Given the description of an element on the screen output the (x, y) to click on. 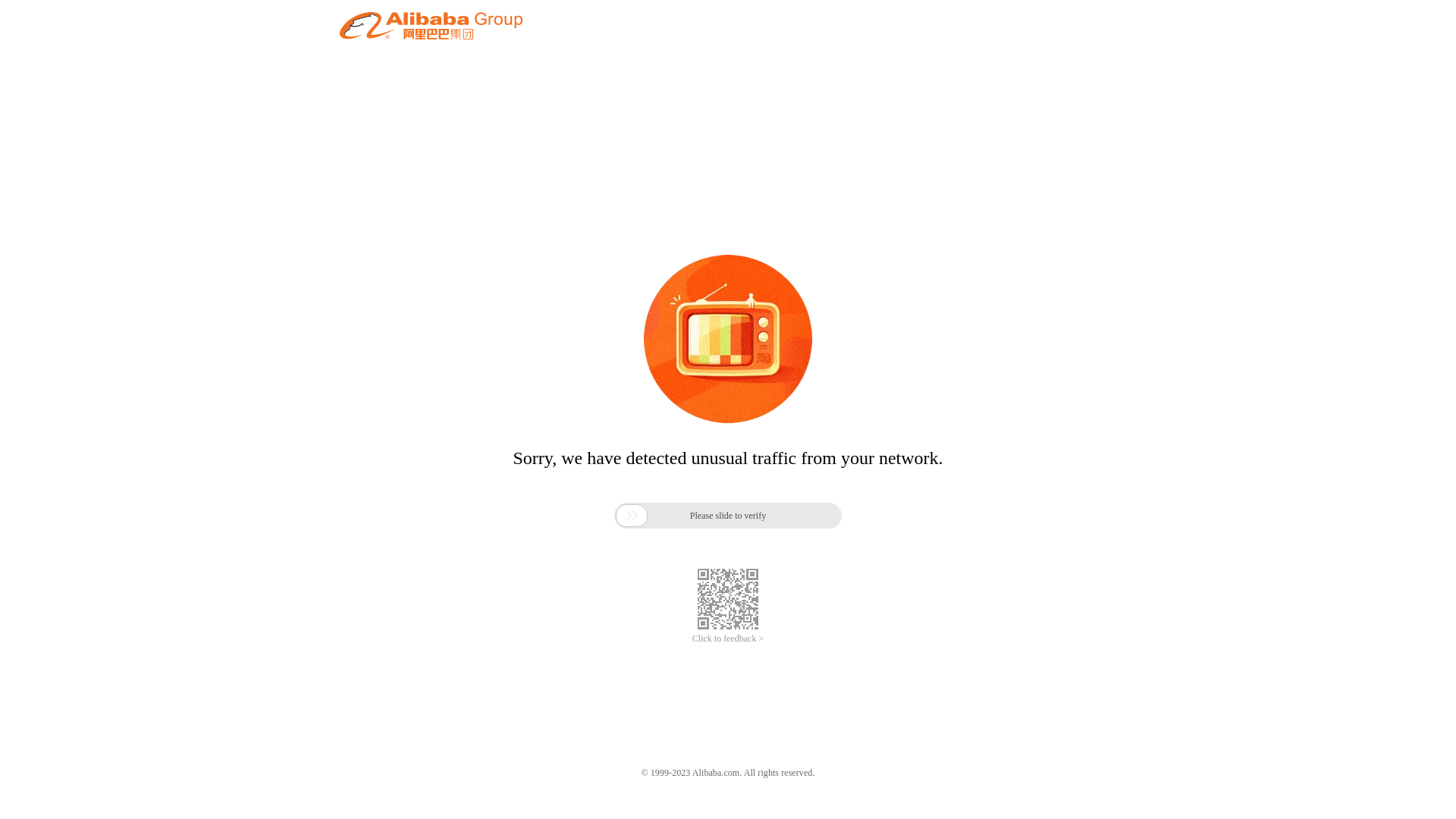
Click to feedback > Element type: text (727, 638)
